Given the description of an element on the screen output the (x, y) to click on. 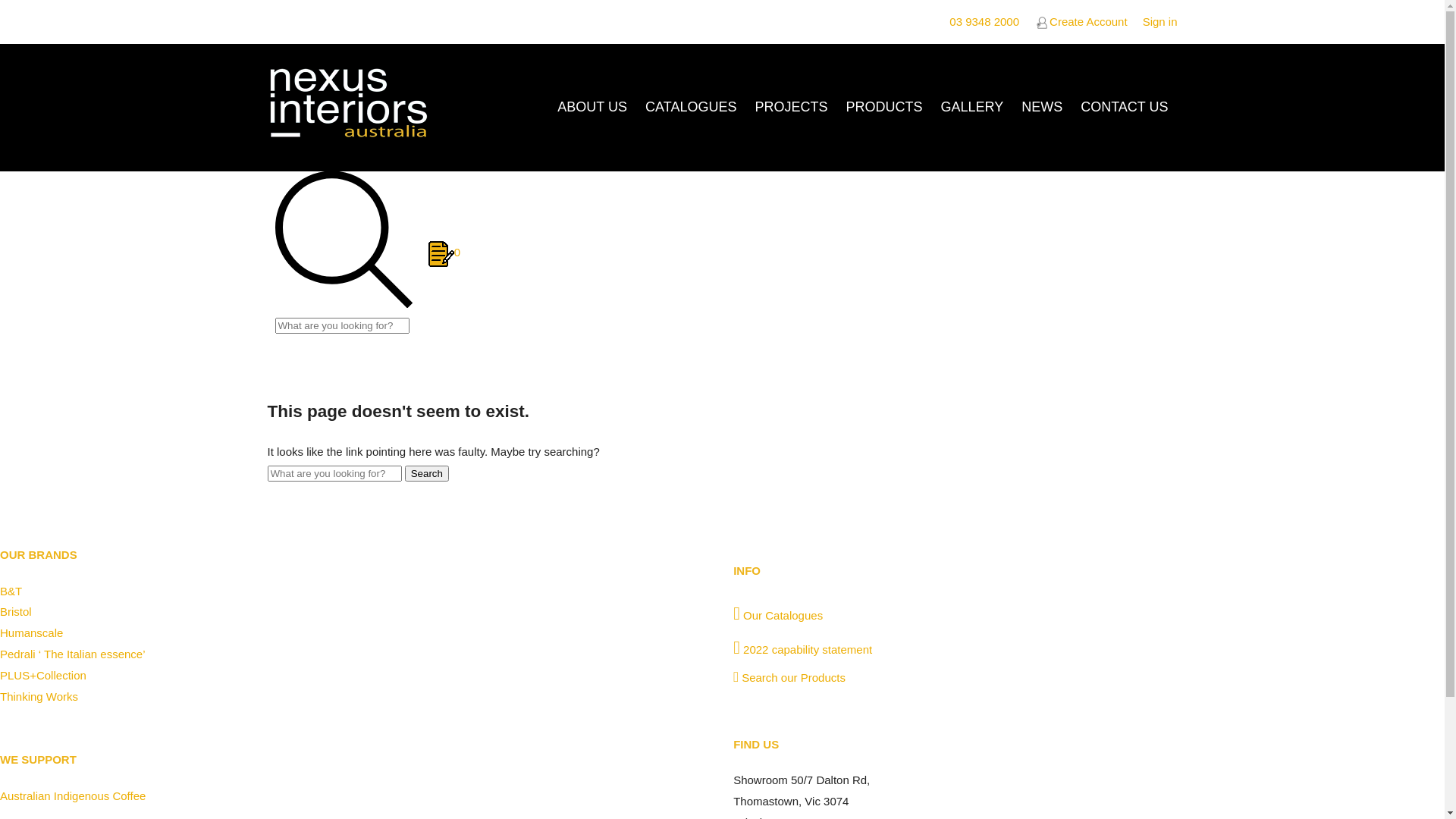
CATALOGUES Element type: text (690, 107)
03 9348 2000 Element type: text (984, 21)
Humanscale Element type: text (31, 632)
Search Element type: text (426, 473)
NEWS Element type: text (1041, 107)
GALLERY Element type: text (971, 107)
ABOUT US Element type: text (592, 107)
Thinking Works Element type: text (39, 696)
Australian Indigenous Coffee Element type: text (72, 795)
B&T Element type: text (10, 590)
PRODUCTS Element type: text (883, 107)
PROJECTS Element type: text (790, 107)
Sign in Element type: text (1159, 21)
Create Account Element type: text (1080, 21)
0 Element type: text (443, 251)
PLUS+Collection Element type: text (43, 674)
Bristol Element type: text (15, 611)
CONTACT US Element type: text (1123, 107)
